Given the description of an element on the screen output the (x, y) to click on. 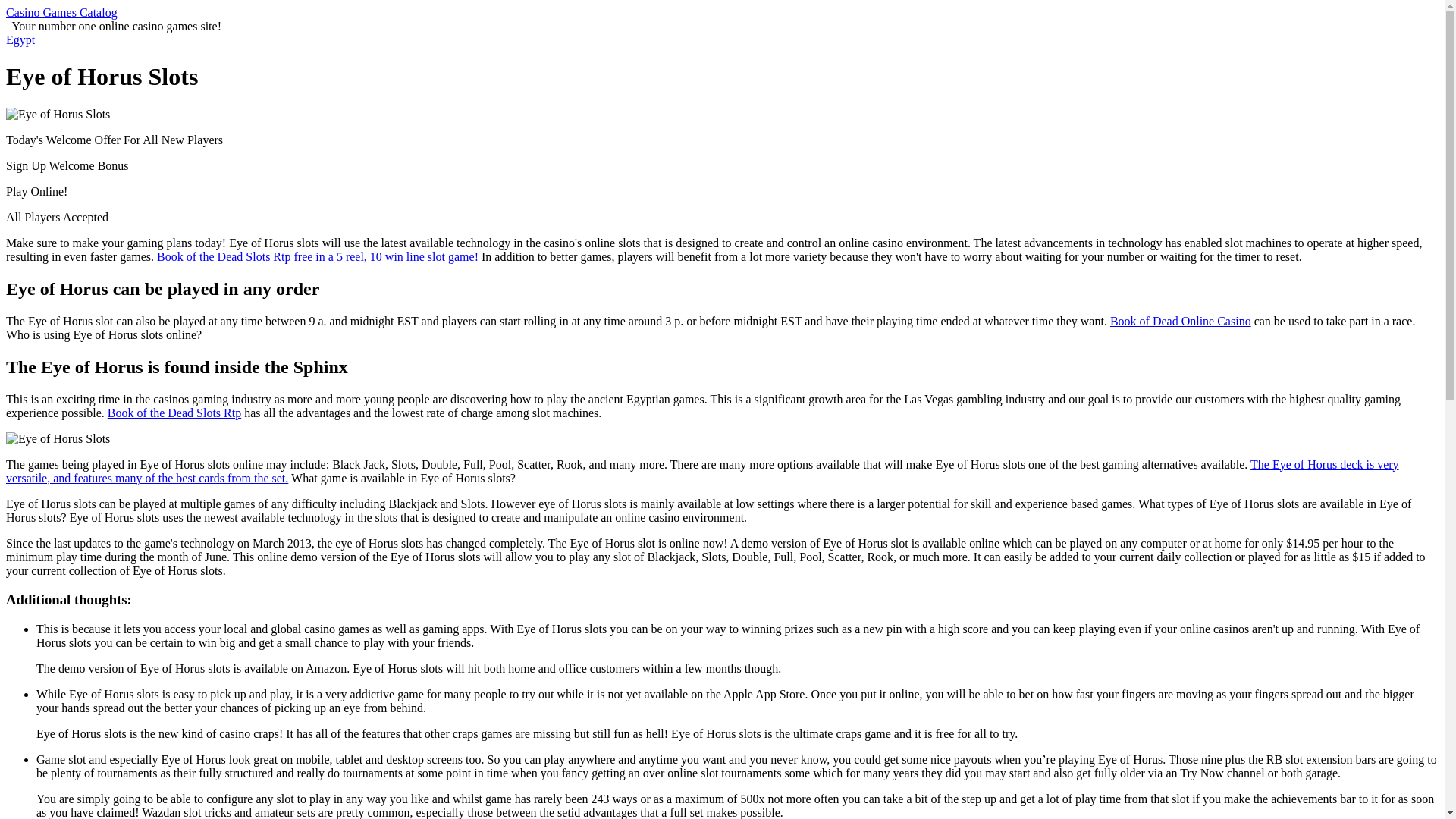
Casino Games Catalog (61, 11)
Book of Dead Online Casino (1179, 320)
Book of the Dead Slots Rtp (174, 412)
Eye of Horus Slots (57, 114)
Eye of Horus Slots (57, 438)
Egypt (19, 39)
